Given the description of an element on the screen output the (x, y) to click on. 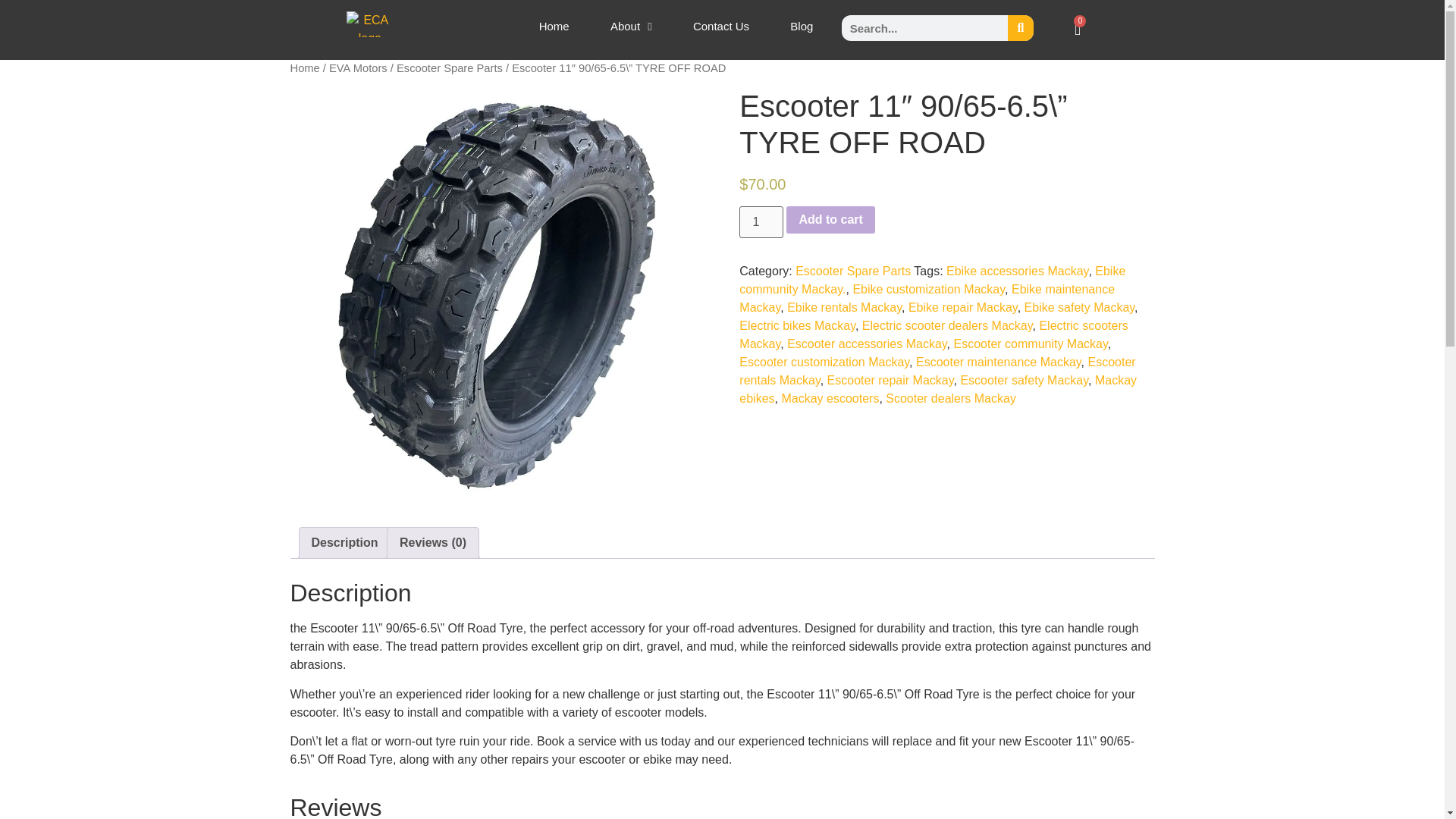
Ebike community Mackay. (932, 279)
Ebike accessories Mackay (1016, 270)
Home (553, 26)
Ebike rentals Mackay (844, 307)
Add to cart (830, 219)
EVA Motors (358, 68)
Ebike customization Mackay (927, 288)
Contact Us (721, 26)
Ebike safety Mackay (1080, 307)
